Given the description of an element on the screen output the (x, y) to click on. 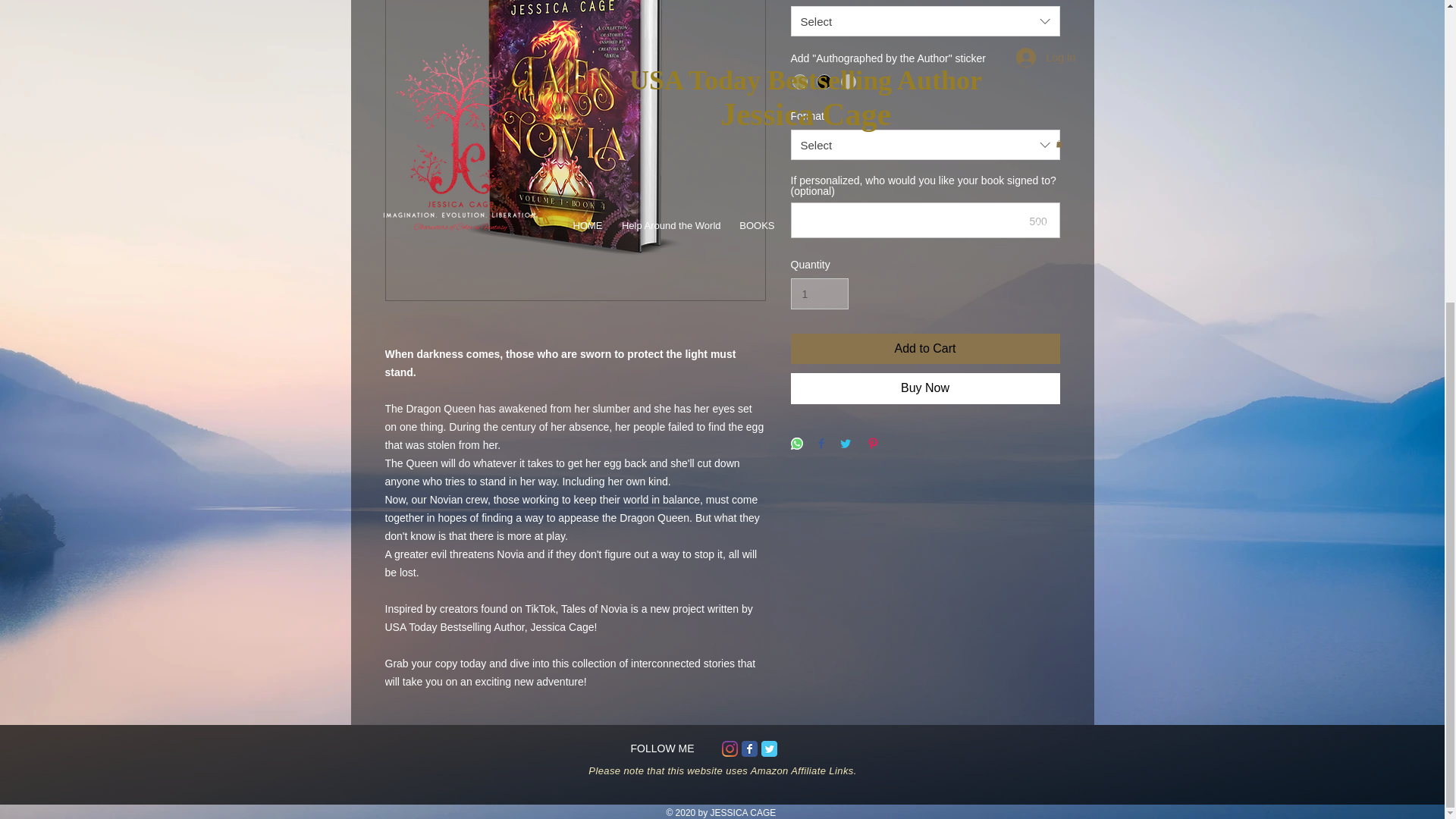
Select (924, 20)
Add to Cart (924, 348)
Buy Now (924, 388)
Select (924, 144)
1 (818, 293)
